Given the description of an element on the screen output the (x, y) to click on. 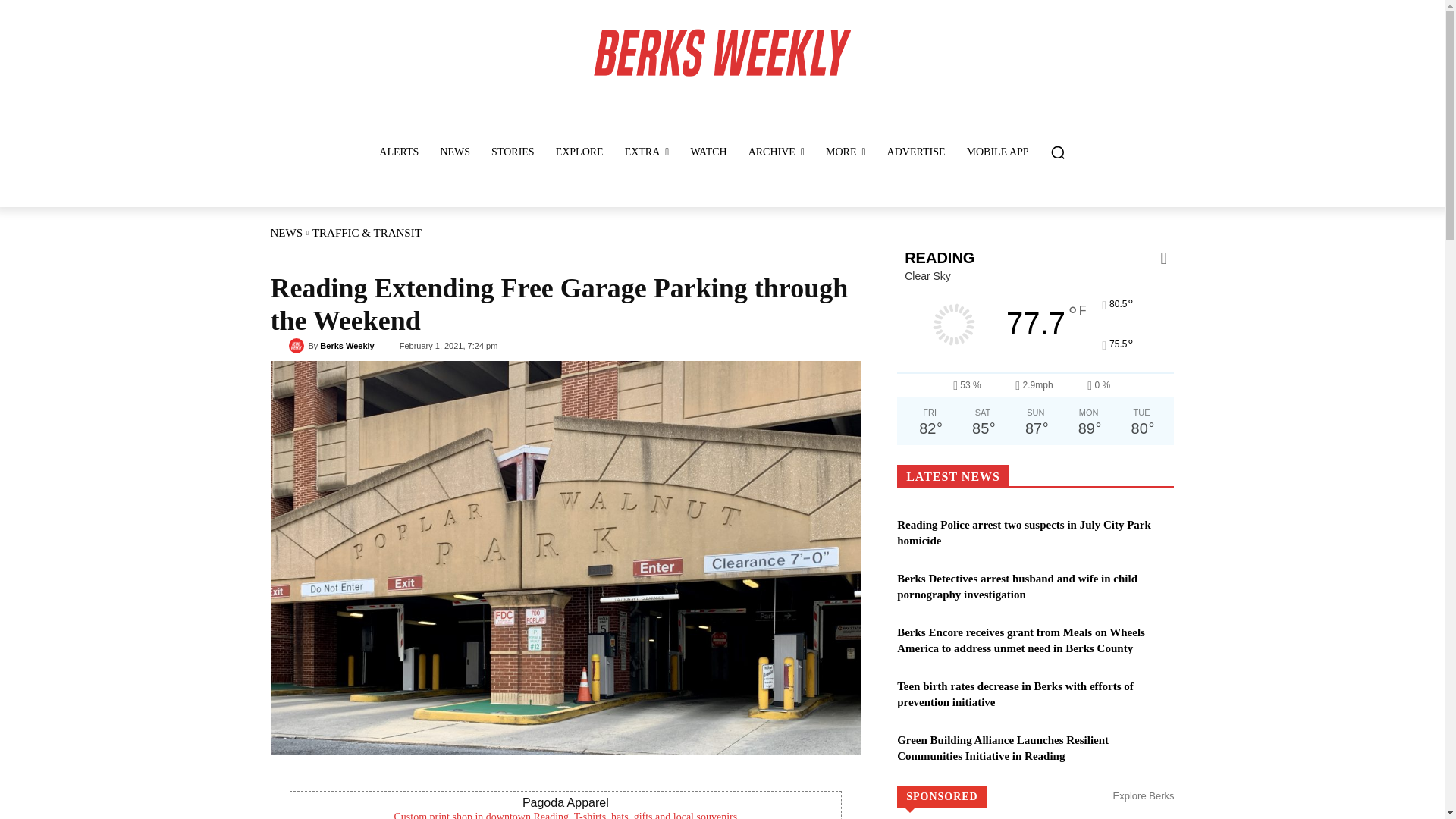
View all posts in News (285, 232)
